Given the description of an element on the screen output the (x, y) to click on. 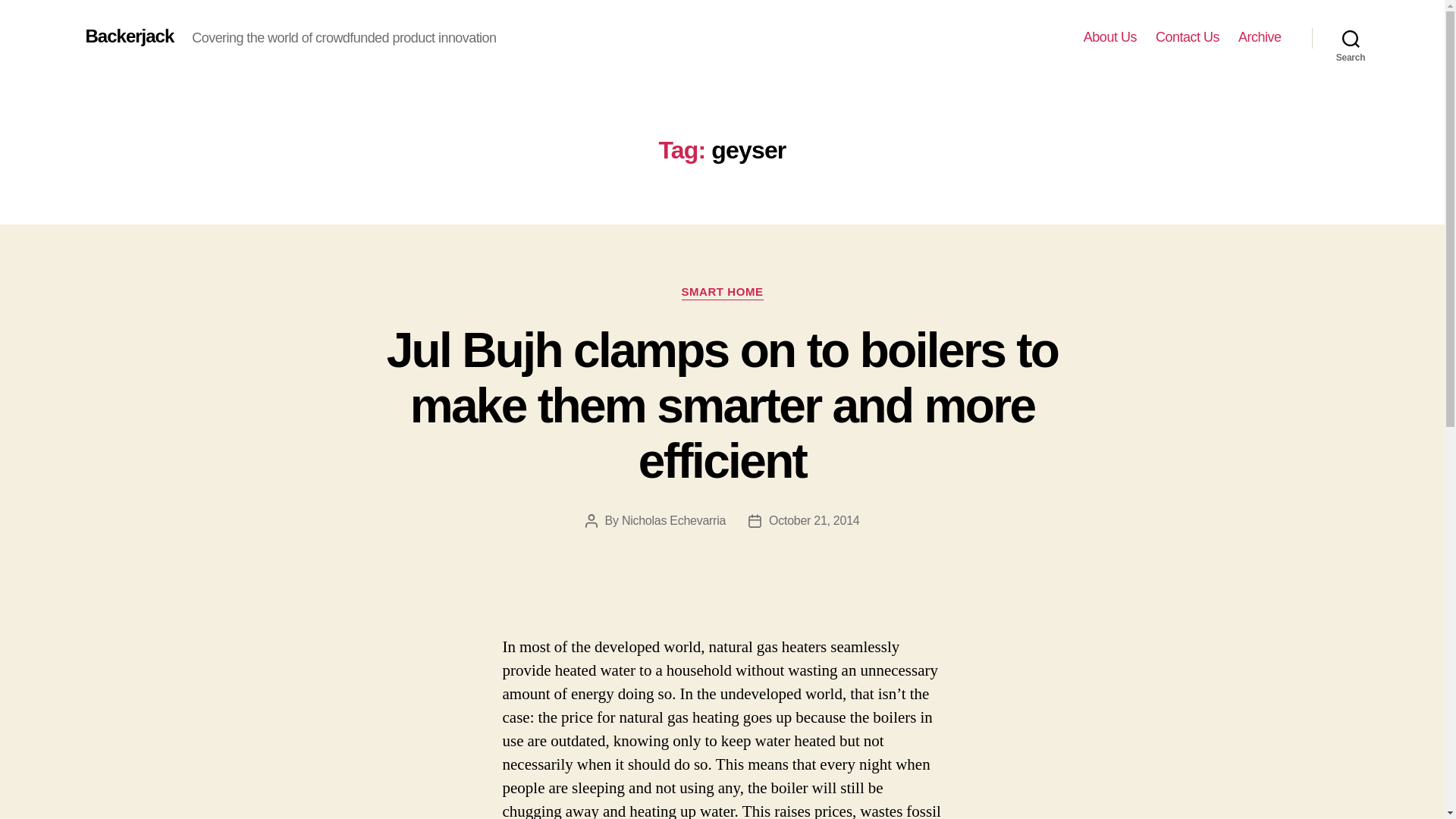
Nicholas Echevarria (673, 520)
Contact Us (1188, 37)
Search (1350, 37)
SMART HOME (721, 292)
Backerjack (128, 36)
Archive (1260, 37)
October 21, 2014 (813, 520)
About Us (1110, 37)
